Given the description of an element on the screen output the (x, y) to click on. 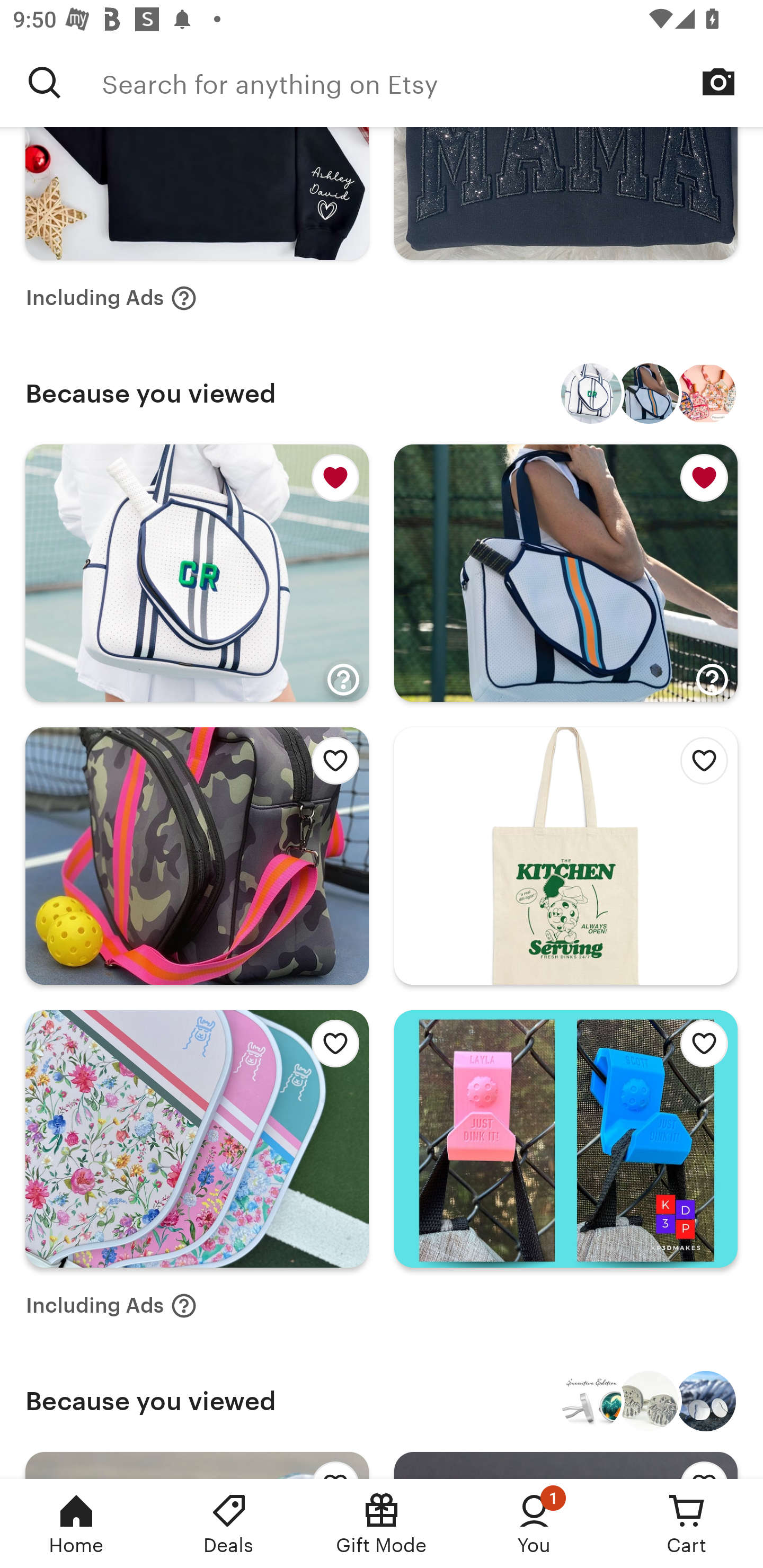
Search for anything on Etsy (44, 82)
Search by image (718, 81)
Search for anything on Etsy (432, 82)
Including Ads (111, 298)
Striped Monogram Pickleball/Tennis Bag (591, 393)
Add Flower Preppy Pickleball Paddle to favorites (330, 1047)
Including Ads (111, 1304)
Deals (228, 1523)
Gift Mode (381, 1523)
You, 1 new notification You (533, 1523)
Cart (686, 1523)
